Given the description of an element on the screen output the (x, y) to click on. 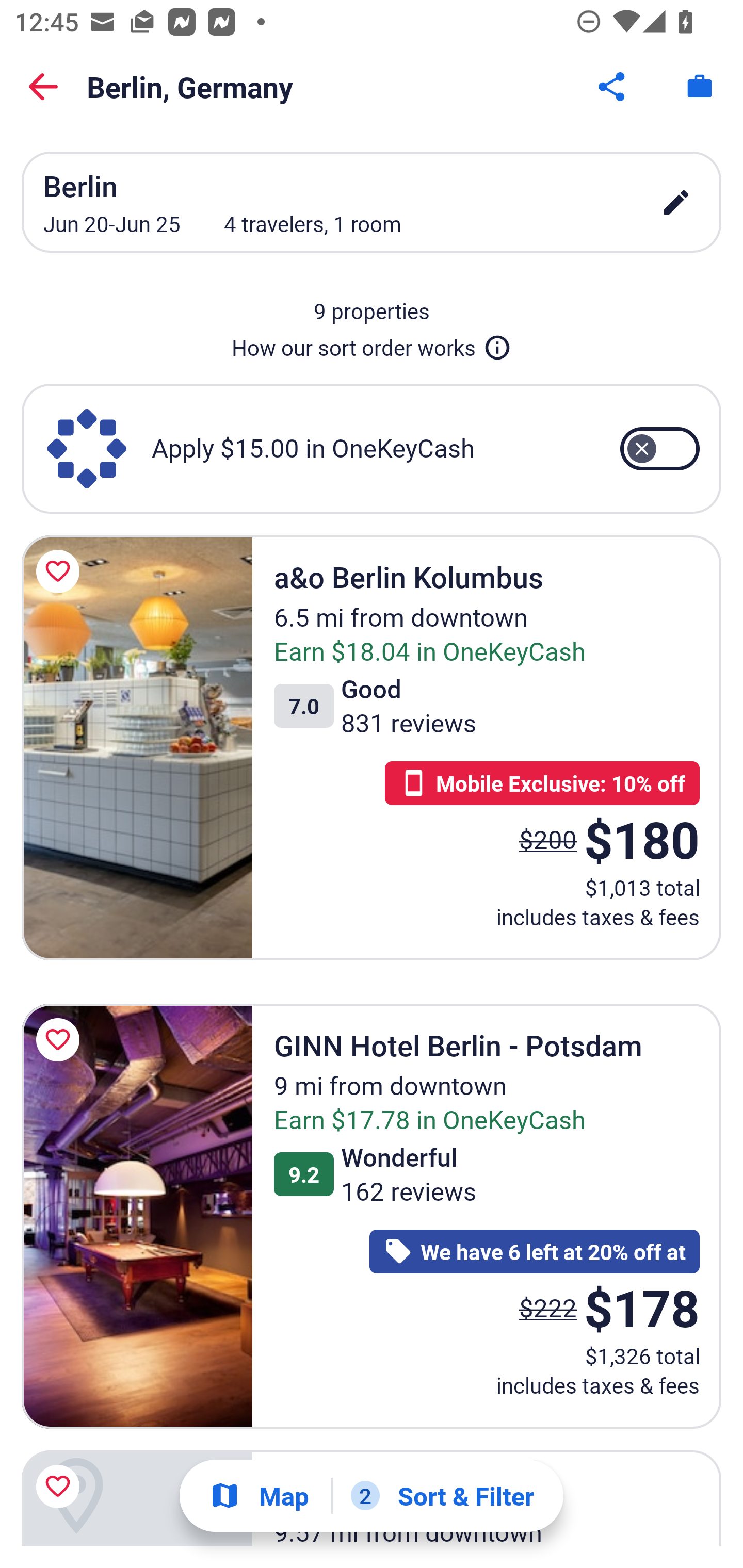
Back (43, 86)
Share Button (612, 86)
Trips. Button (699, 86)
Berlin Jun 20-Jun 25 4 travelers, 1 room edit (371, 202)
How our sort order works (371, 344)
Save a&o Berlin Kolumbus to a trip (61, 571)
a&o Berlin Kolumbus (136, 746)
$200 The price was $200 (547, 839)
Save GINN Hotel Berlin - Potsdam to a trip (61, 1040)
GINN Hotel Berlin - Potsdam (136, 1215)
$222 The price was $222 (547, 1307)
Save Parkhotel Marzahn to a trip (61, 1486)
2 Sort & Filter 2 Filters applied. Filters Button (442, 1495)
Show map Map Show map Button (258, 1495)
